Given the description of an element on the screen output the (x, y) to click on. 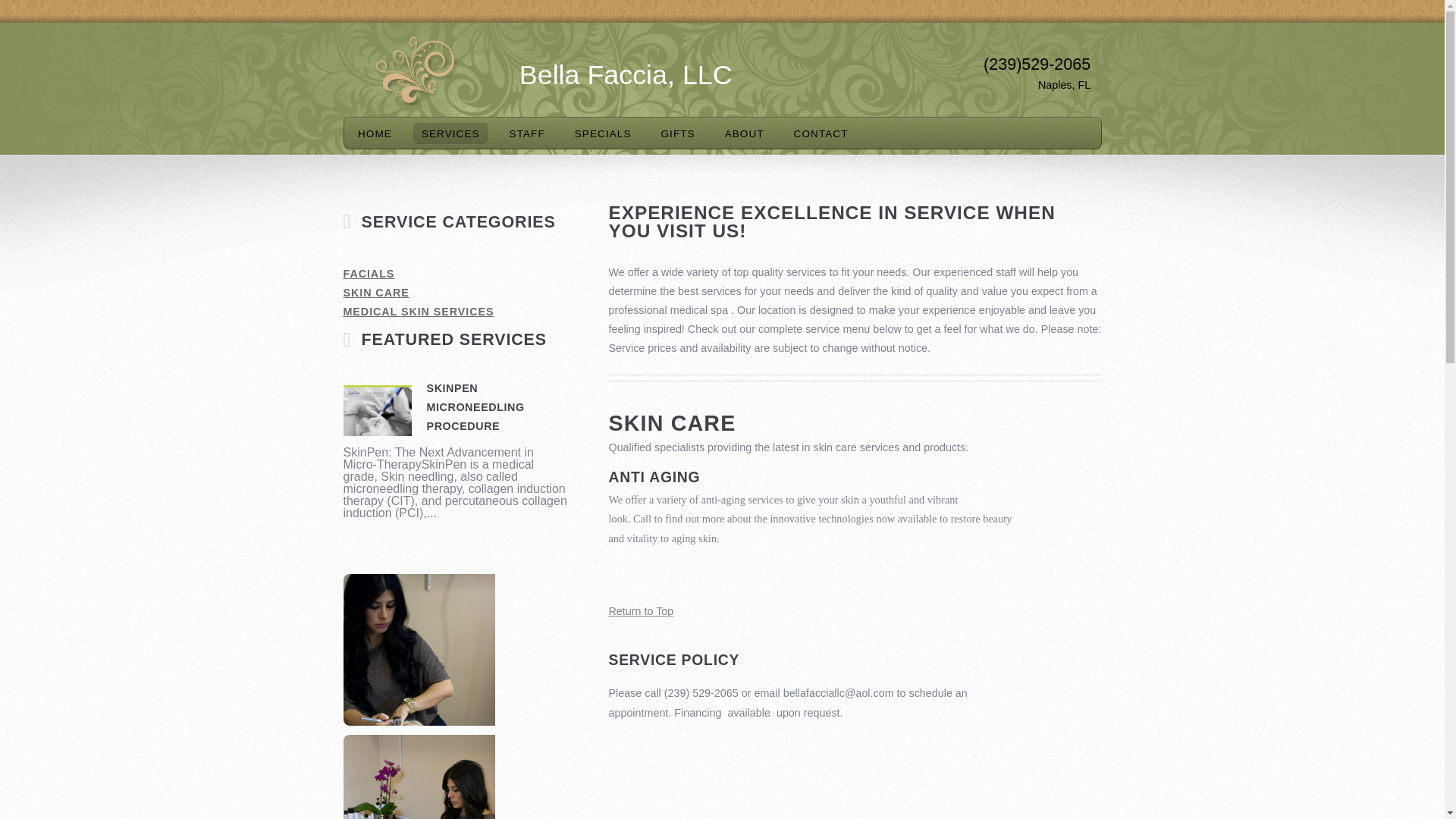
SKIN CARE (456, 292)
ABOUT (744, 133)
SERVICES (450, 133)
CONTACT (821, 133)
STAFF (526, 133)
GIFTS (677, 133)
SPECIALS (603, 133)
Return to Top (640, 611)
FACIALS (456, 273)
HOME (374, 133)
